Given the description of an element on the screen output the (x, y) to click on. 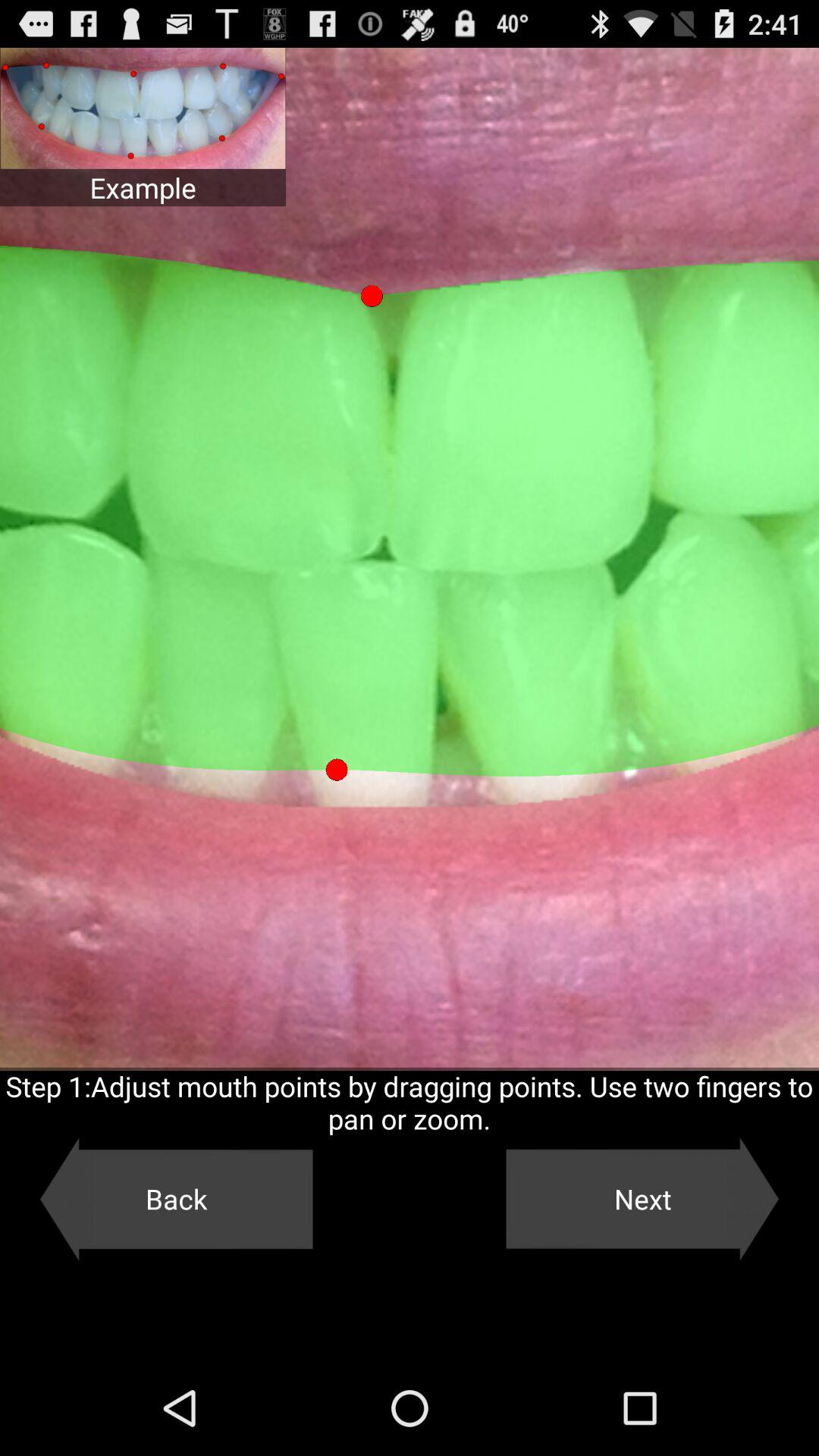
turn on the back (175, 1198)
